Given the description of an element on the screen output the (x, y) to click on. 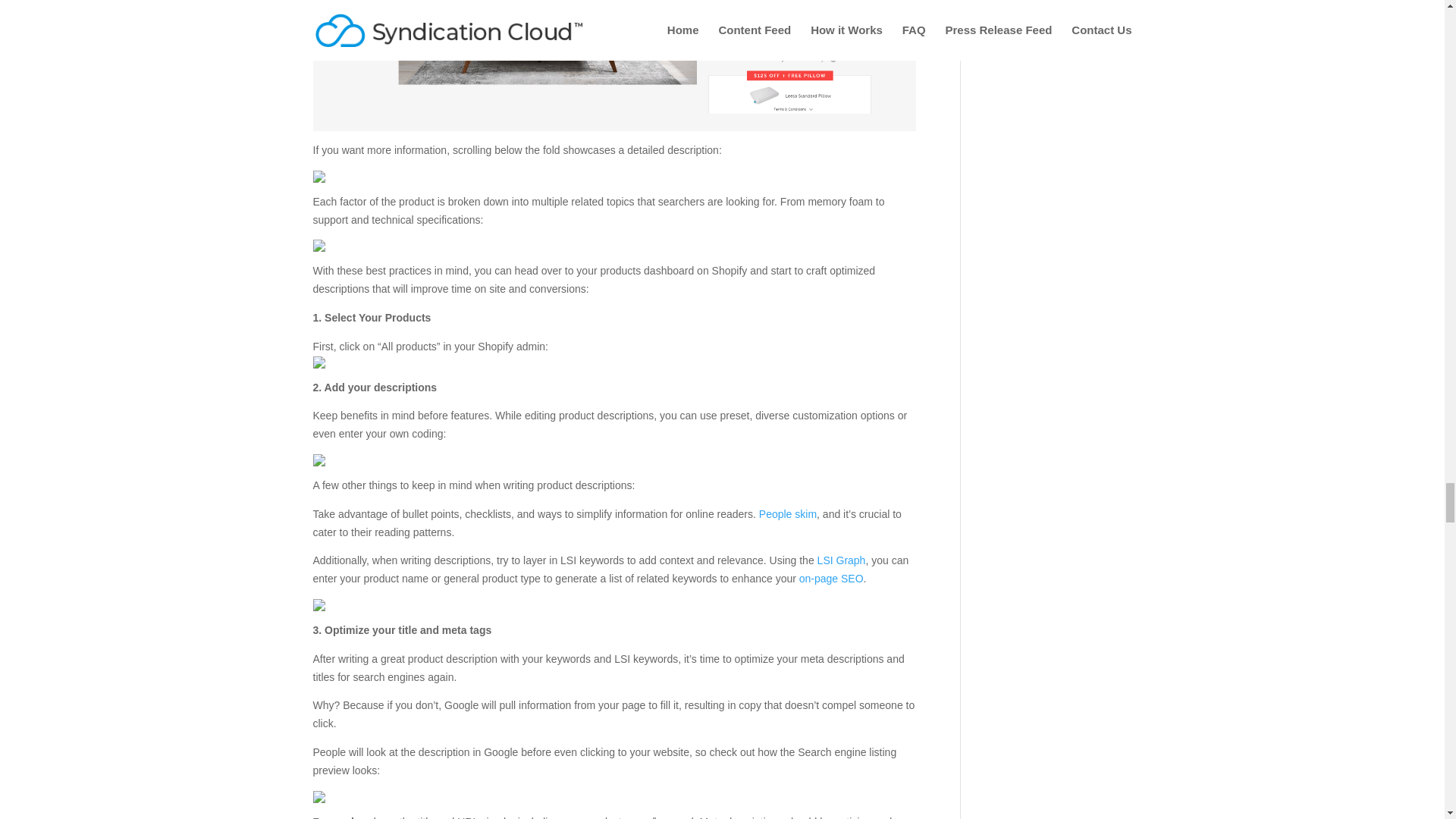
LSI Graph (841, 560)
on-page SEO (831, 578)
People skim (787, 513)
